Given the description of an element on the screen output the (x, y) to click on. 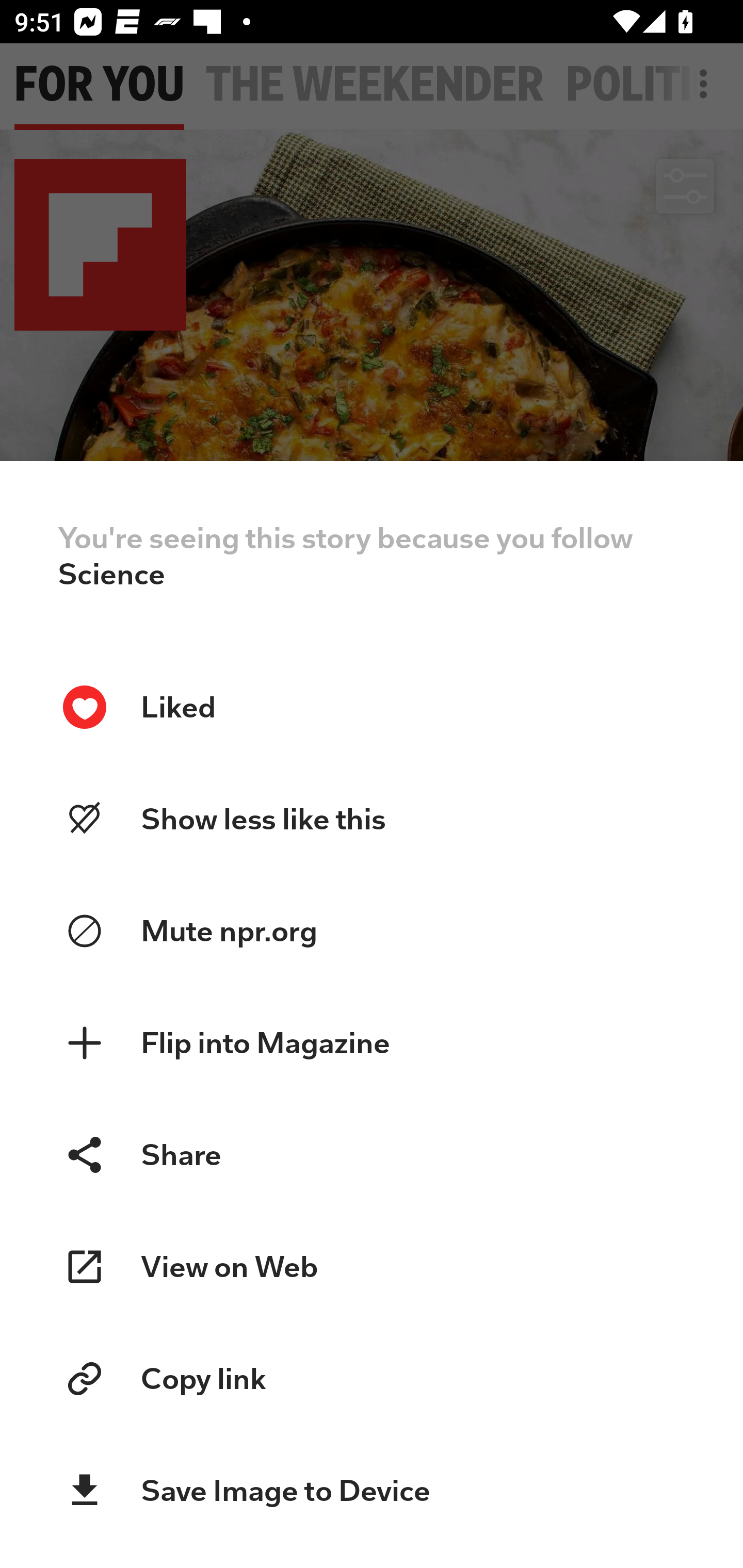
Liked (371, 706)
Show less like this (371, 818)
Mute npr.org (371, 930)
Flip into Magazine (371, 1043)
Share (371, 1154)
View on Web (371, 1266)
Copy link (371, 1378)
Save Image to Device (371, 1490)
